Given the description of an element on the screen output the (x, y) to click on. 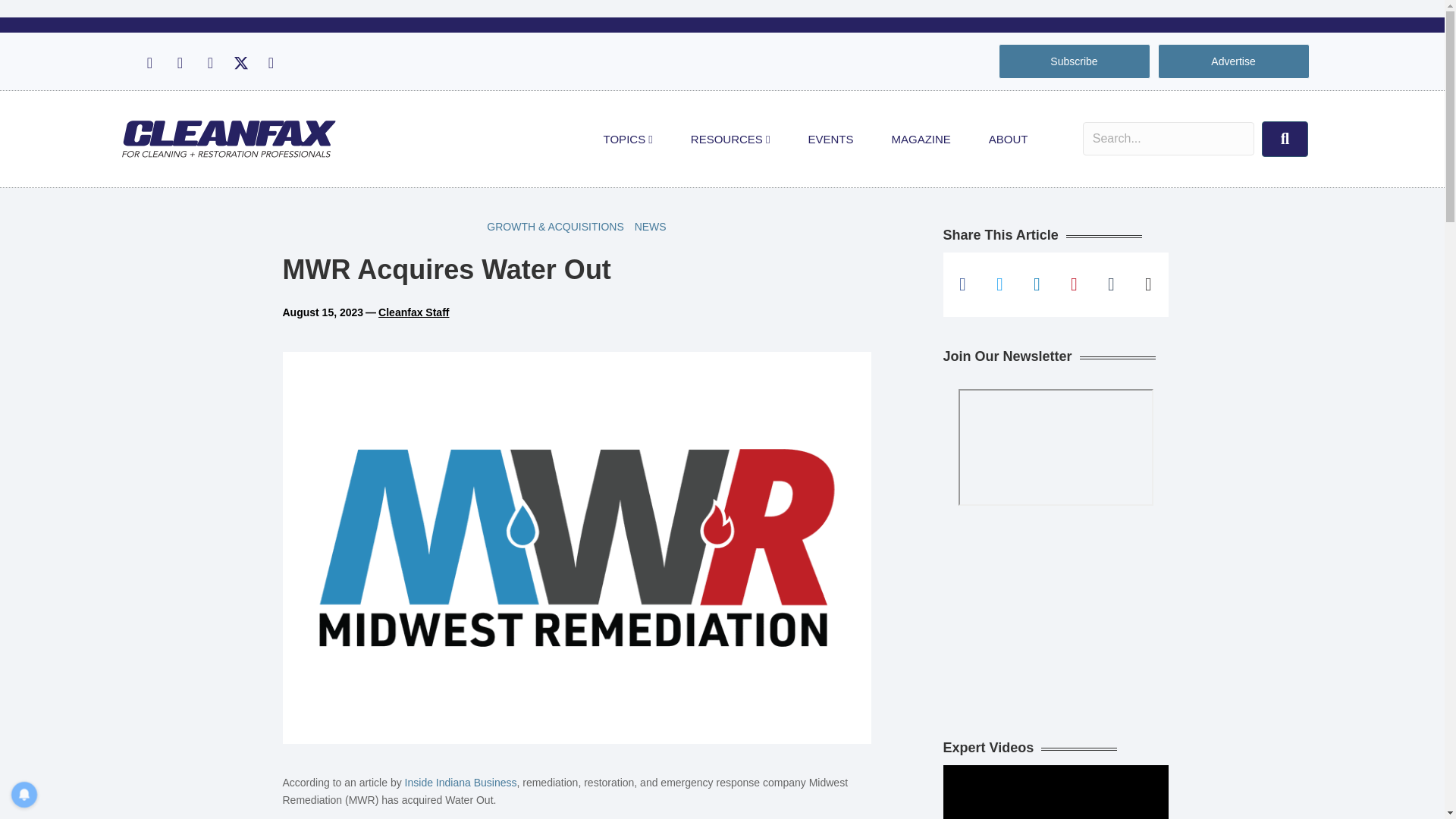
YouTube (270, 62)
ABOUT (1007, 138)
TOPICS (628, 138)
Advertise (1232, 61)
Facebook (149, 62)
NEWS (649, 226)
LinkedIn (209, 62)
Cleanfax Staff (413, 312)
RESOURCES (730, 138)
EVENTS (830, 138)
MAGAZINE (920, 138)
Instagram (179, 62)
Subscribe (1073, 61)
